Given the description of an element on the screen output the (x, y) to click on. 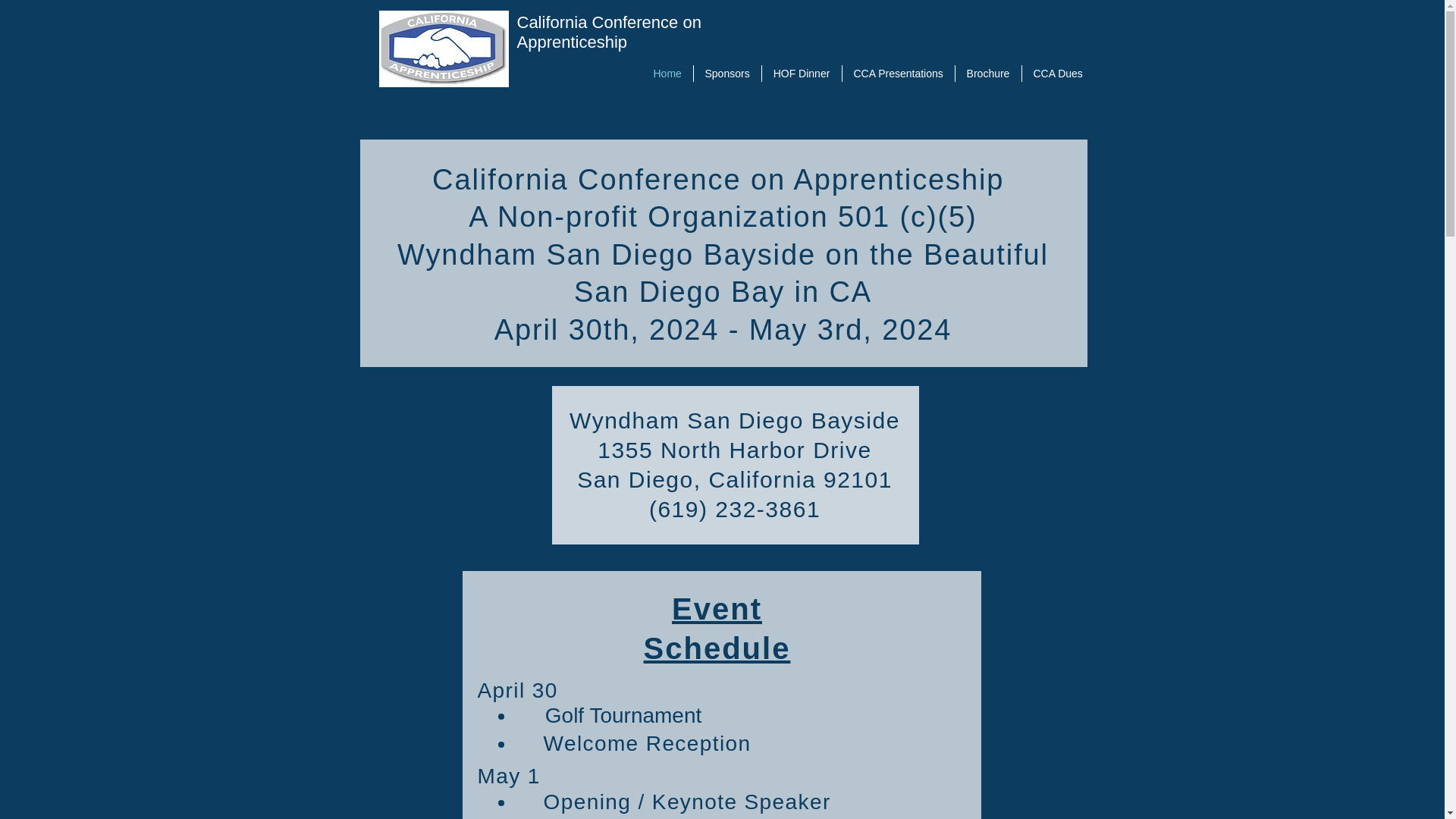
CCA Presentations (897, 73)
California Conference on Apprenticeship (608, 32)
HOF Dinner (801, 73)
Sponsors (726, 73)
CCA Dues (1058, 73)
Home (667, 73)
Event Schedule (716, 628)
Brochure (988, 73)
